Given the description of an element on the screen output the (x, y) to click on. 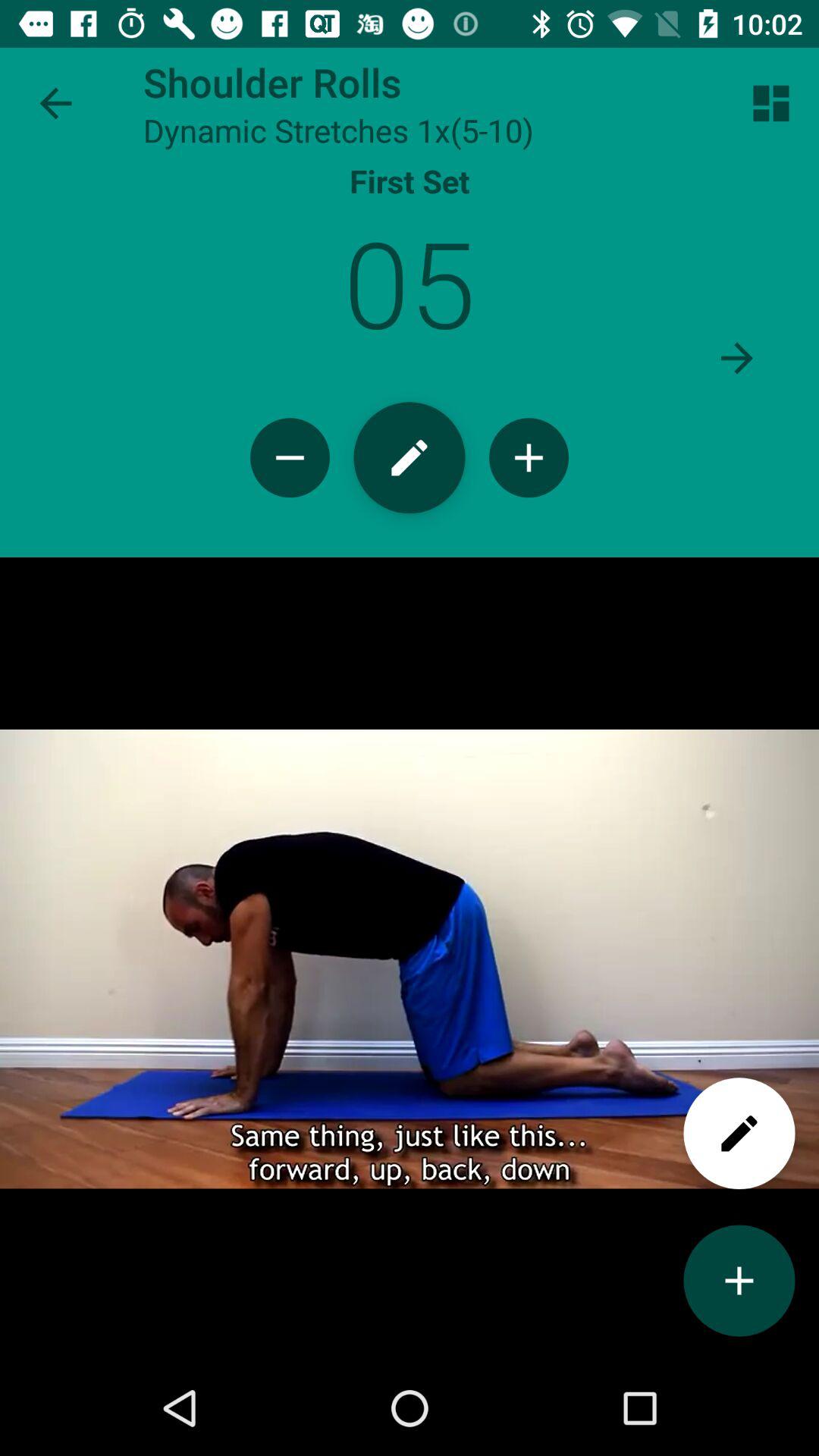
click to the zoom (528, 457)
